Given the description of an element on the screen output the (x, y) to click on. 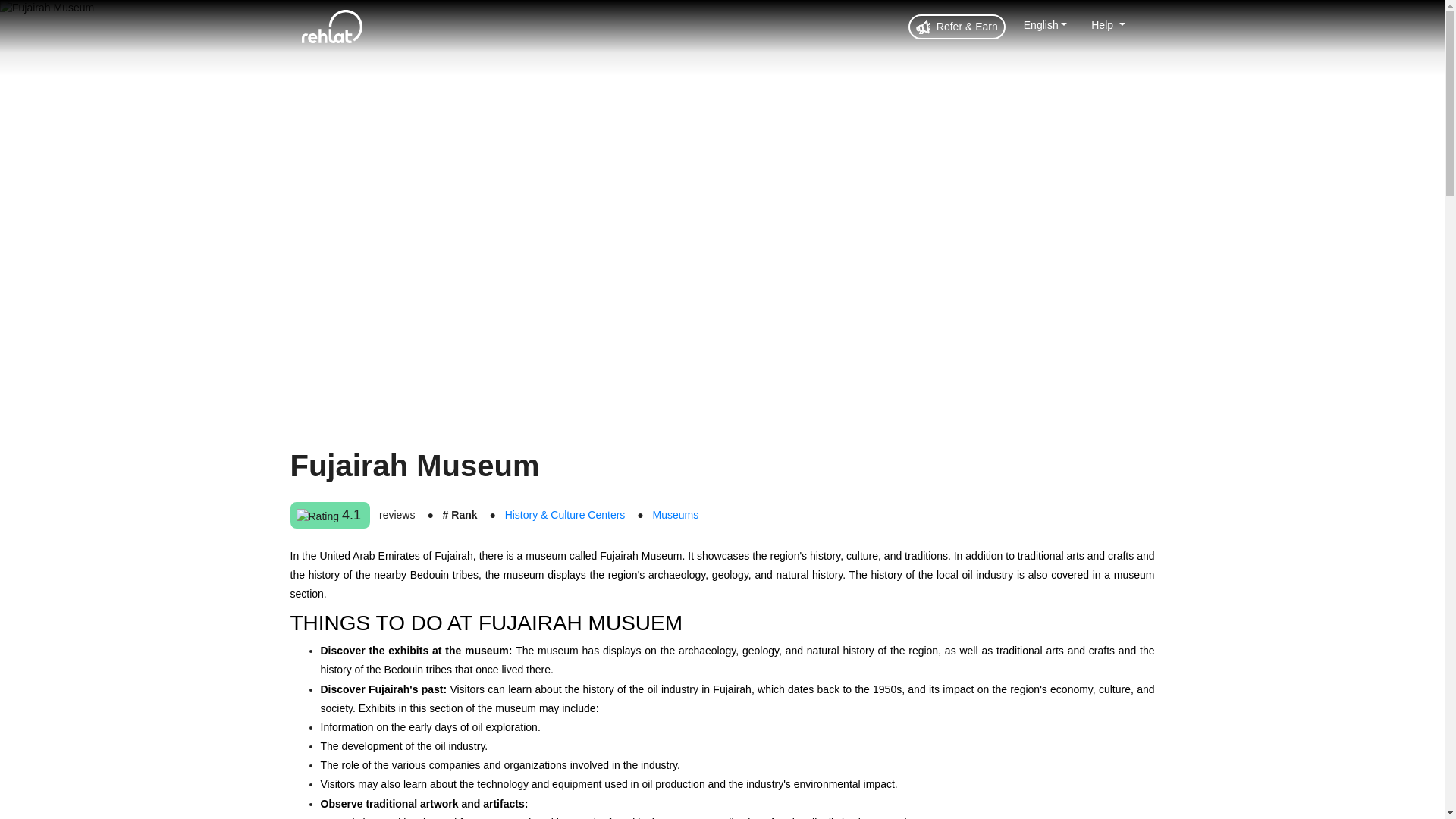
English (1045, 24)
Help (1107, 24)
Museums (675, 514)
